Given the description of an element on the screen output the (x, y) to click on. 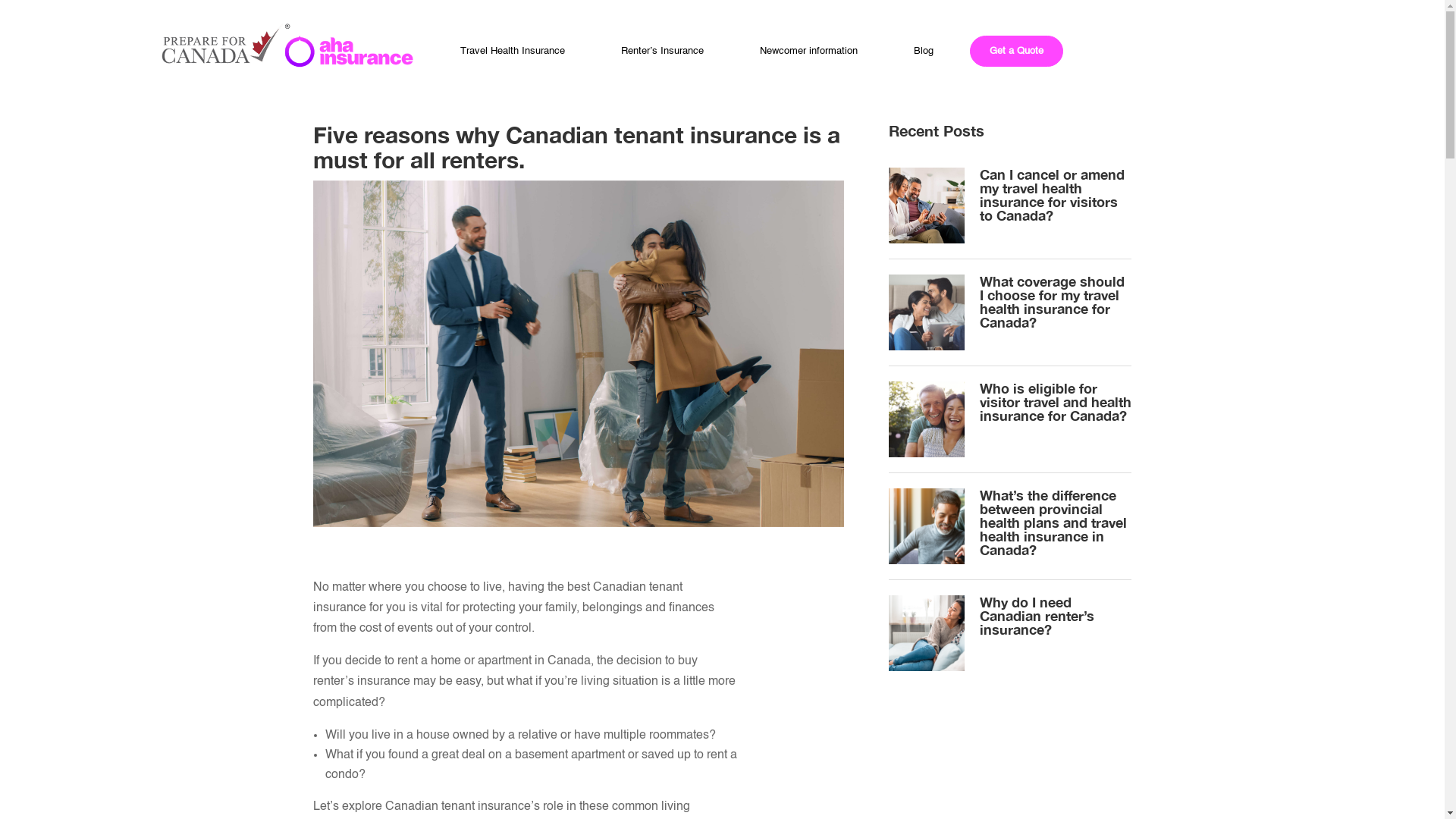
Canadian tenant insurance Element type: hover (577, 353)
Get a Quote Element type: text (1016, 50)
Blog Element type: text (923, 50)
Travel Health Insurance Element type: text (512, 50)
Newcomer information Element type: text (808, 50)
